Given the description of an element on the screen output the (x, y) to click on. 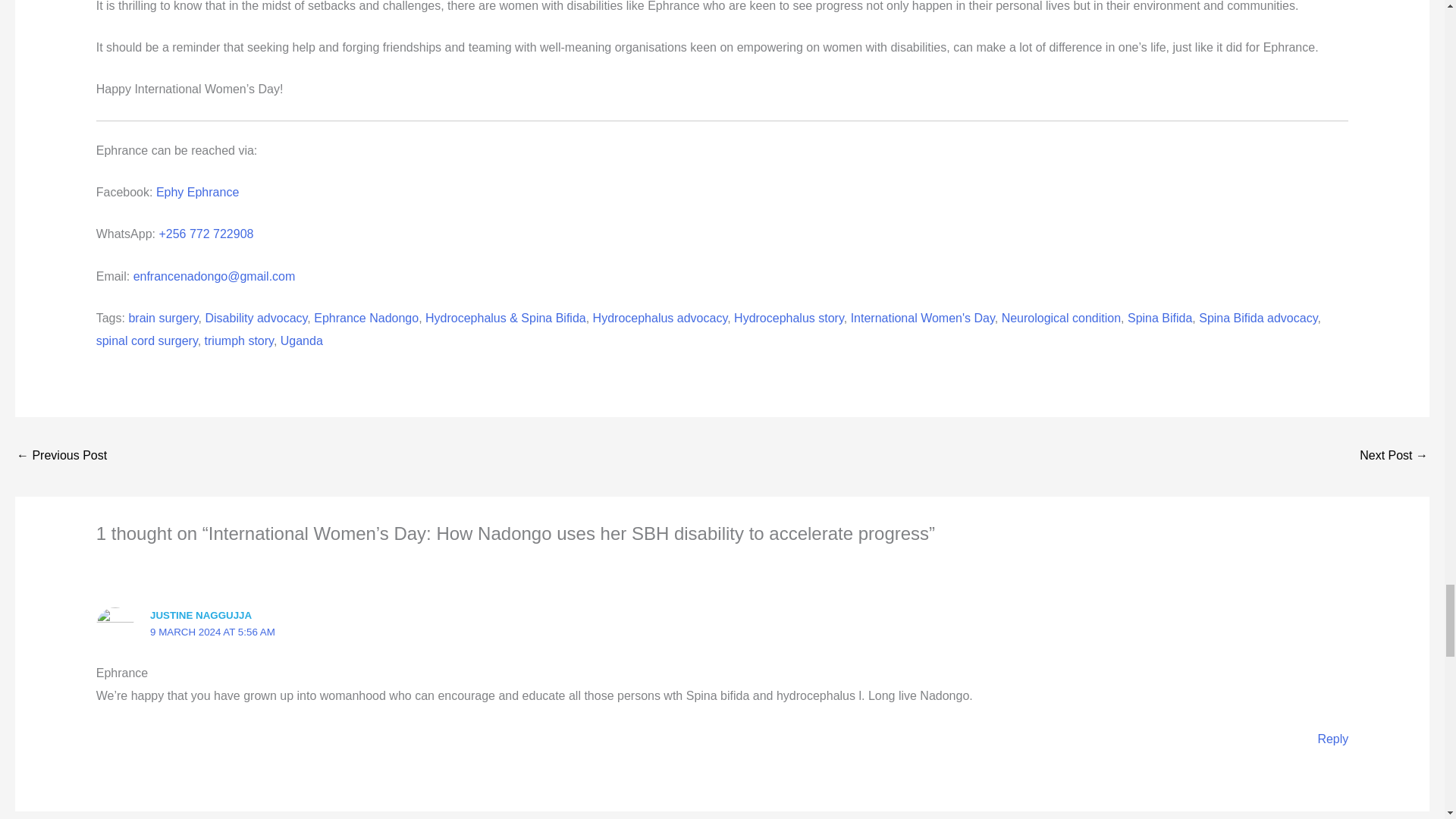
spinal cord surgery (147, 340)
triumph story (239, 340)
Hydrocephalus story (788, 318)
Hydrocephalus advocacy (660, 318)
Disability advocacy (256, 318)
Hydrocephalus story (788, 318)
Neurological condition (1061, 318)
Neurological condition (1061, 318)
Hydrocephalus advocacy (660, 318)
spinal cord surgery (147, 340)
Ephrance Nadongo (366, 318)
Spina Bifida (1159, 318)
Ephrance Nadongo (366, 318)
brain surgery (163, 318)
Spina Bifida advocacy (1257, 318)
